Given the description of an element on the screen output the (x, y) to click on. 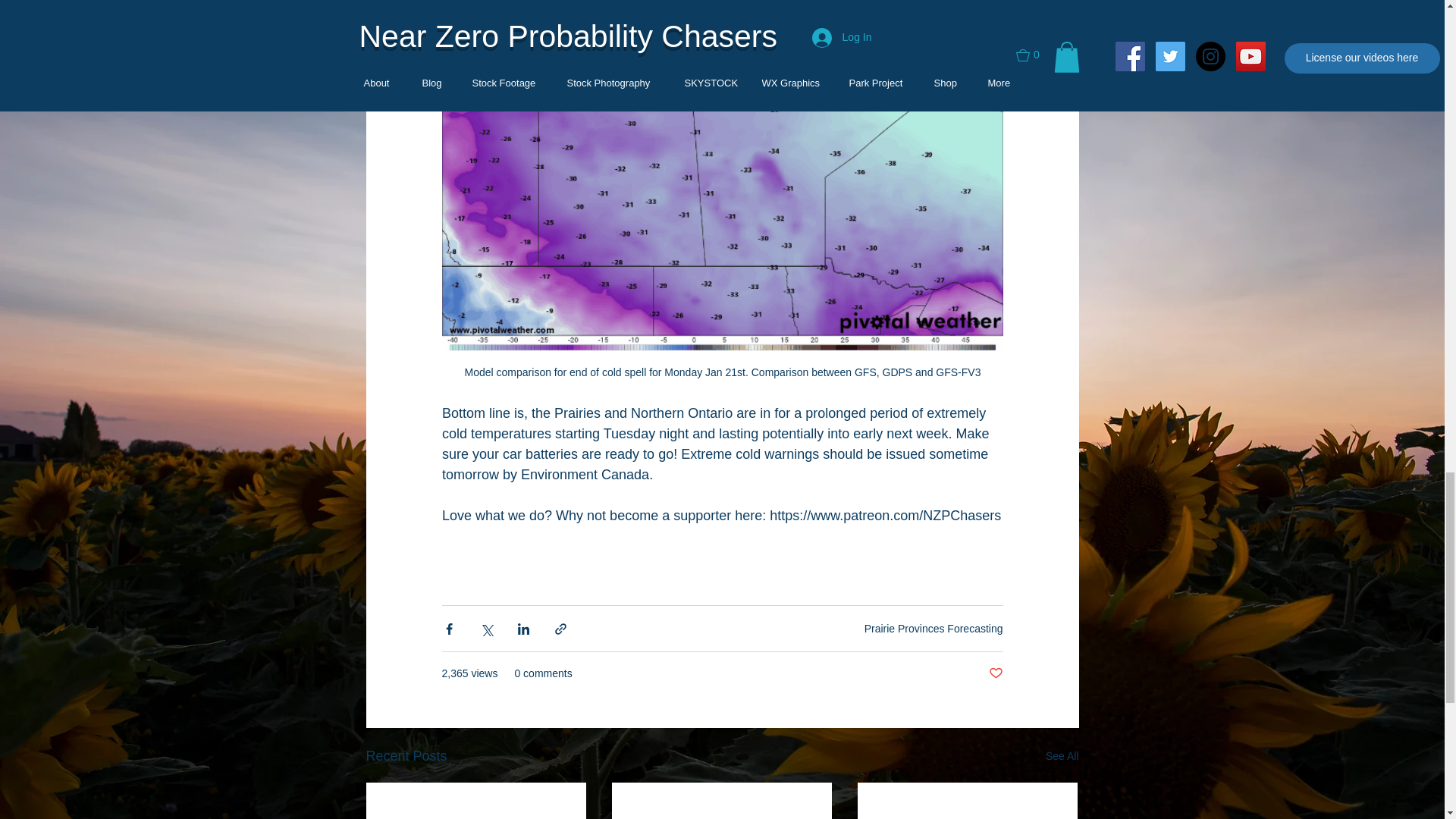
Post not marked as liked (995, 673)
Prairie Provinces Forecasting (933, 628)
See All (1061, 756)
